Given the description of an element on the screen output the (x, y) to click on. 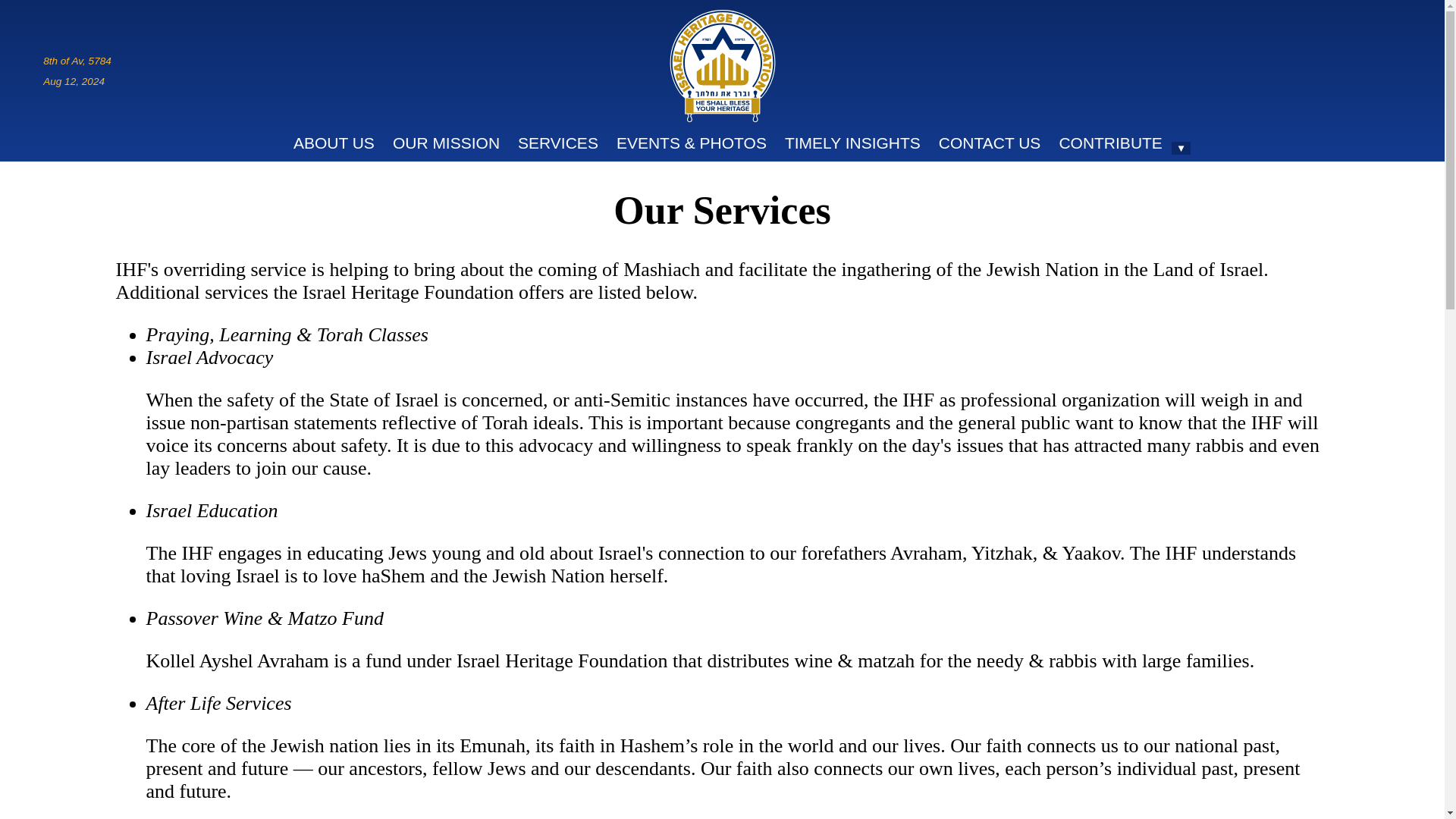
CONTRIBUTE (1110, 142)
ABOUT US (333, 142)
CONTACT US (989, 142)
SERVICES (557, 142)
OUR MISSION (446, 142)
TIMELY INSIGHTS (853, 142)
